Given the description of an element on the screen output the (x, y) to click on. 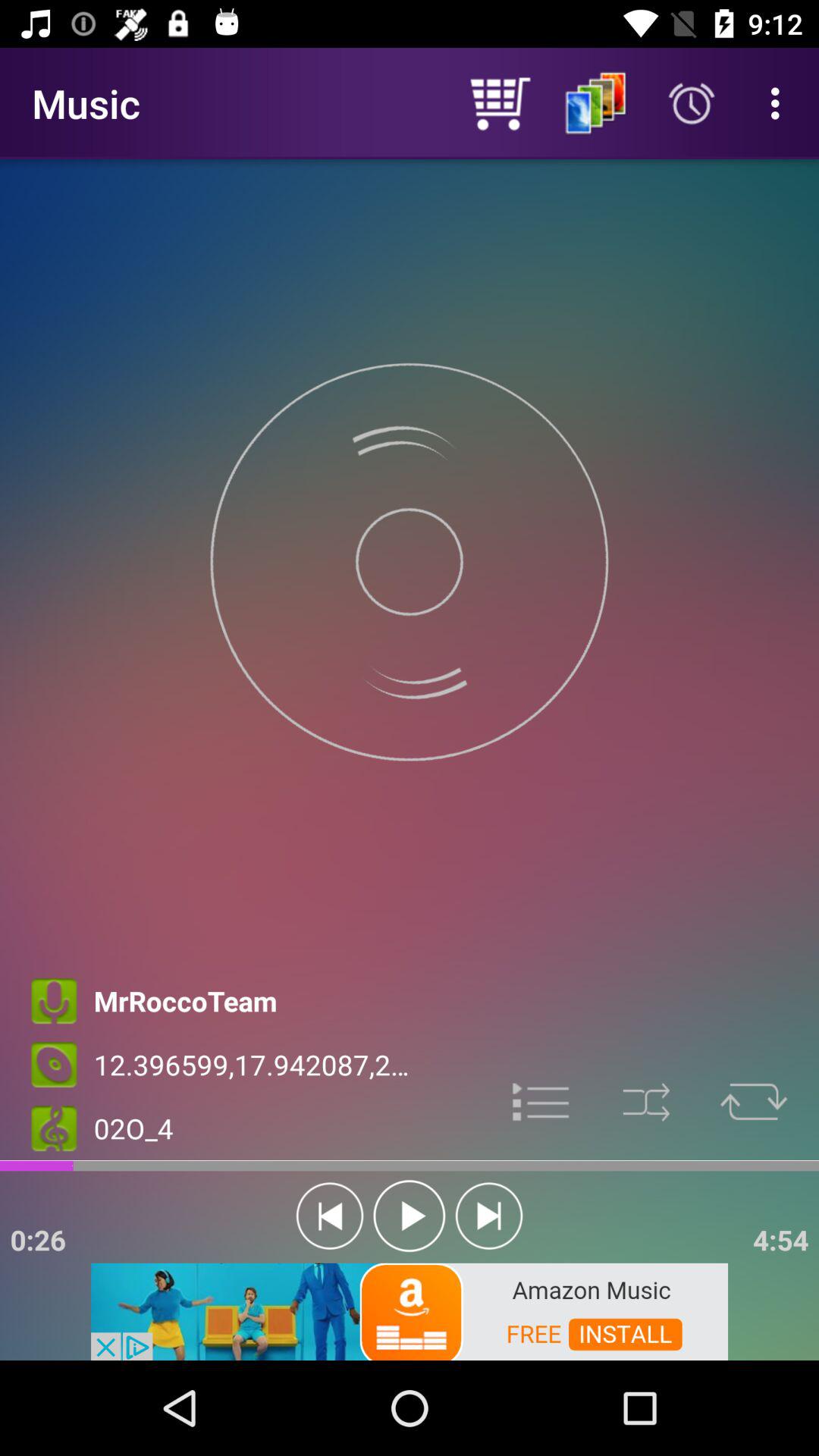
see advertisement (409, 1310)
